Given the description of an element on the screen output the (x, y) to click on. 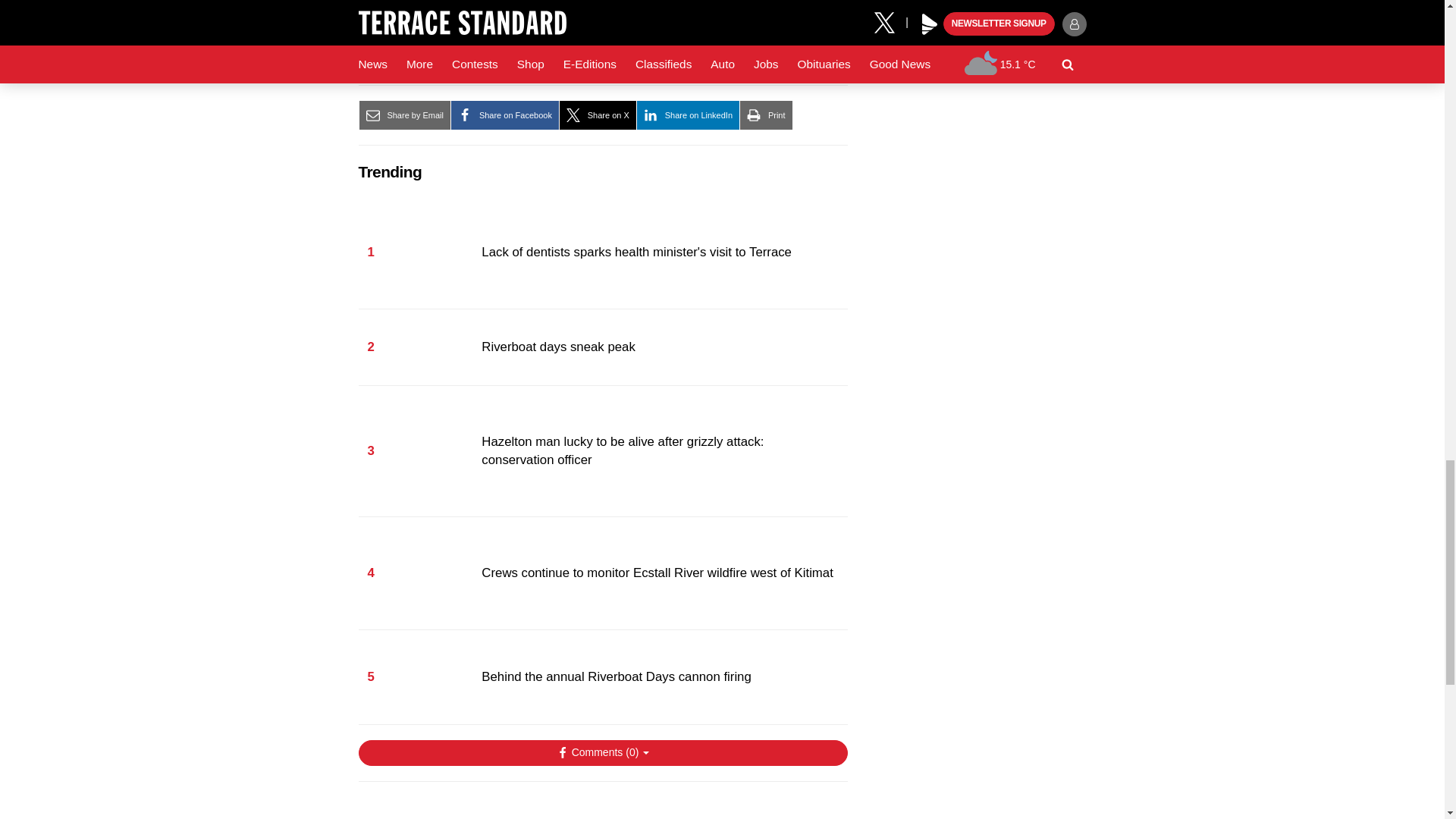
Show Comments (602, 752)
